Given the description of an element on the screen output the (x, y) to click on. 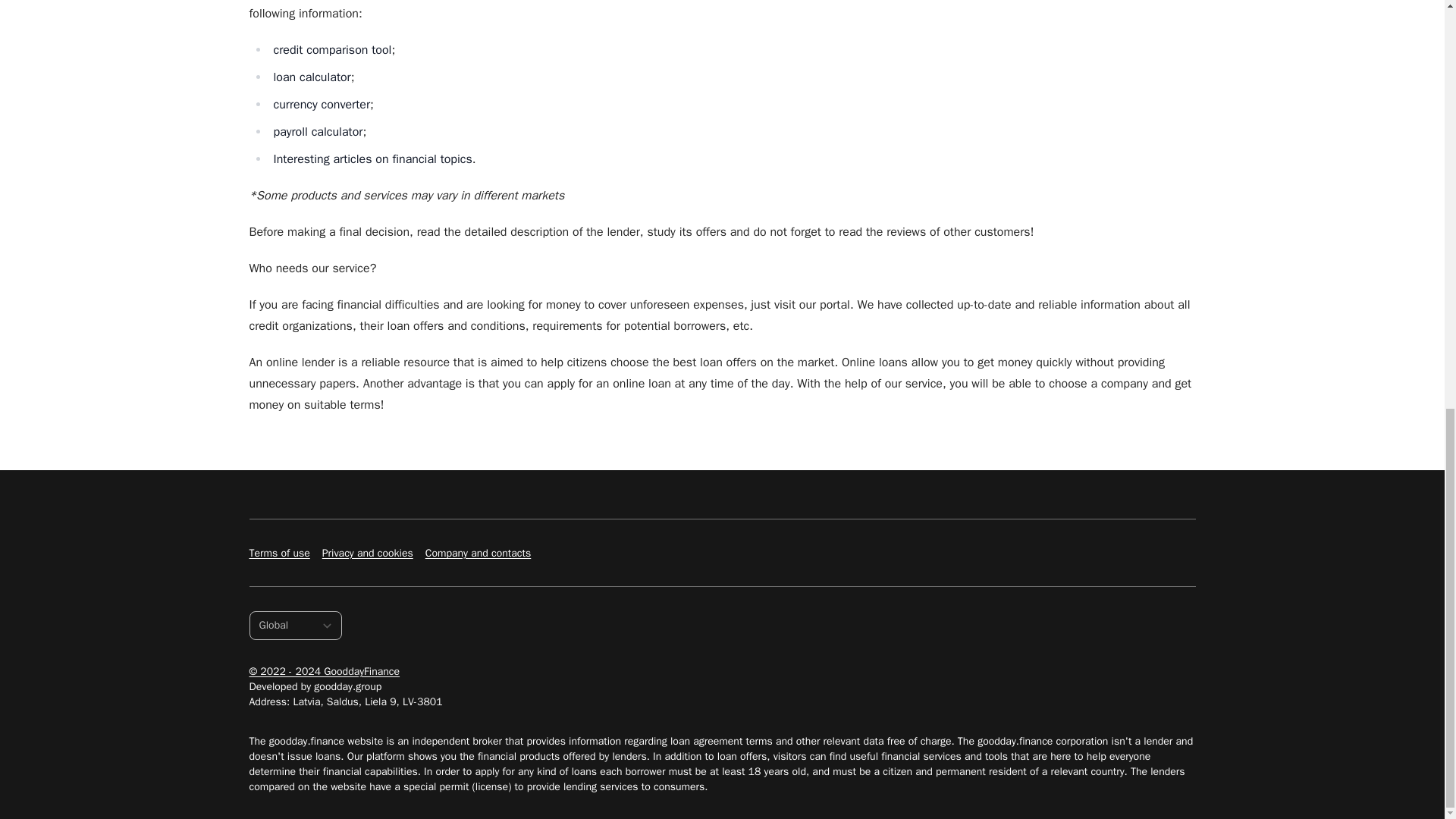
Gooddday Finance (323, 671)
Company and contacts (478, 552)
Privacy and cookies (367, 552)
Terms of use (278, 552)
About the company and contact form for communication (478, 552)
About privacy and cookie policy (367, 552)
goodday.group (347, 686)
